Given the description of an element on the screen output the (x, y) to click on. 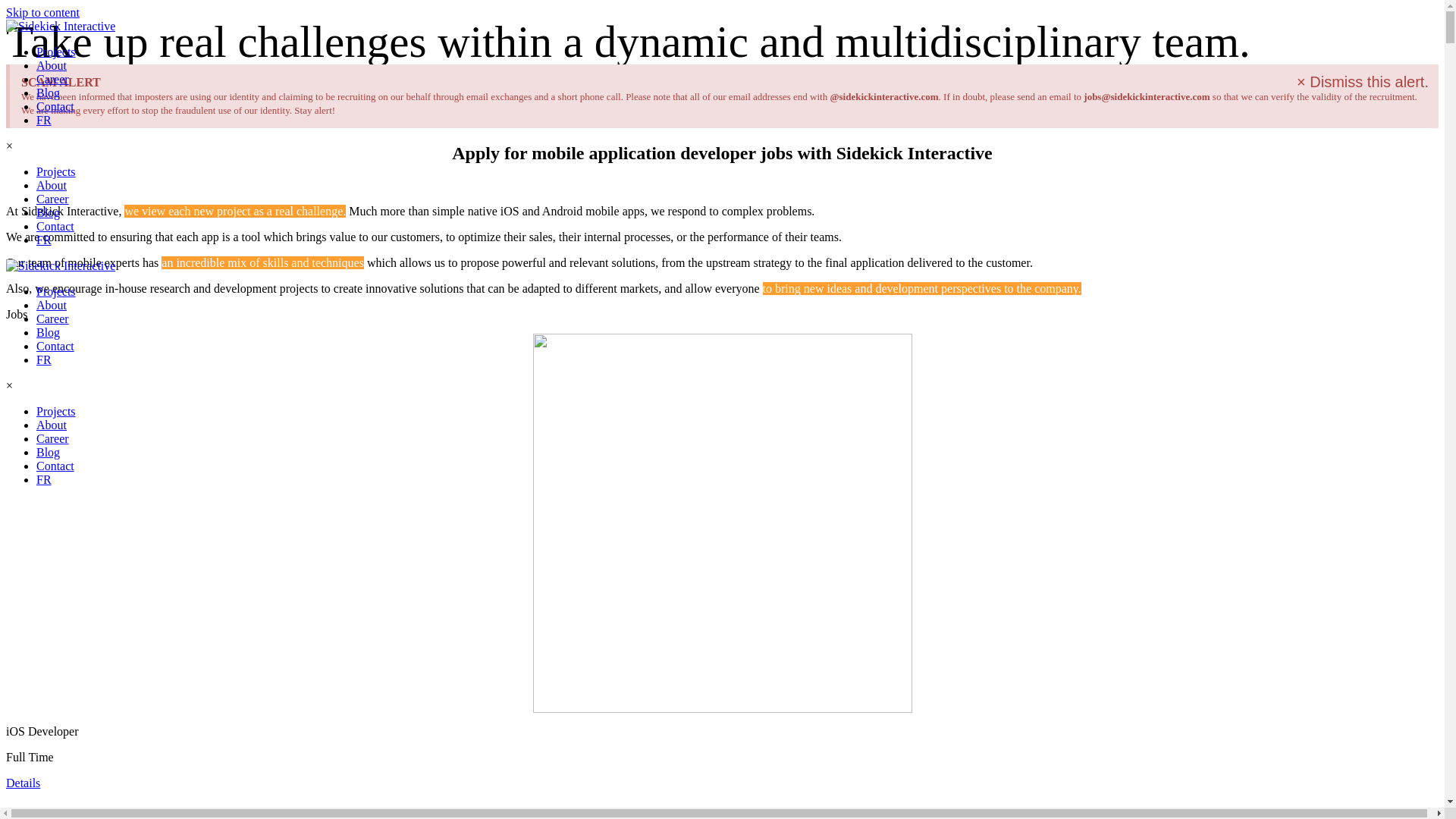
Skip to content (42, 11)
FR (43, 479)
About (51, 305)
FR (43, 239)
FR (43, 359)
Career (52, 198)
Blog (47, 92)
About (51, 424)
FR (43, 239)
Career (52, 318)
